Given the description of an element on the screen output the (x, y) to click on. 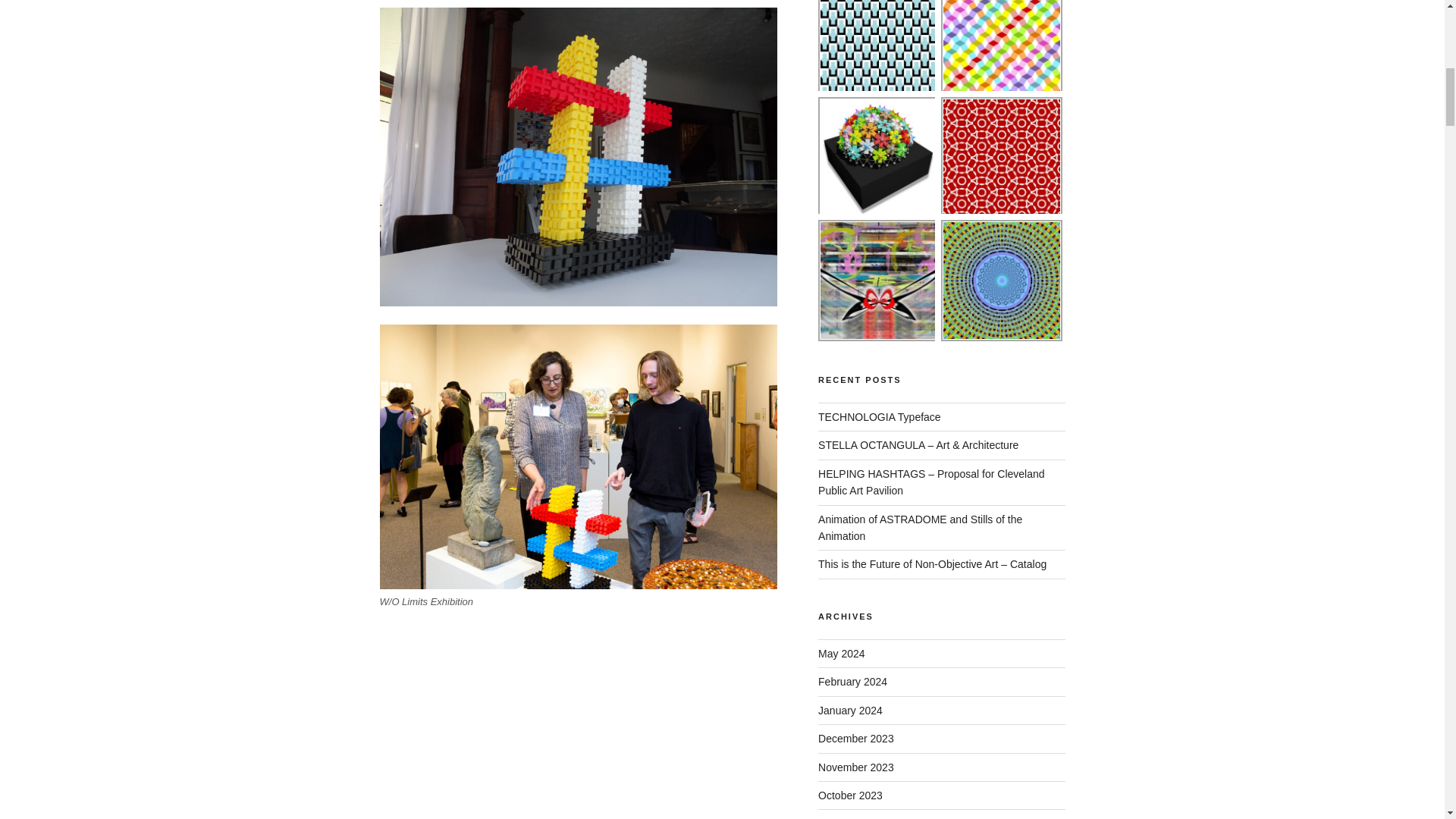
ASTRADOME ON A BOX (878, 157)
